Given the description of an element on the screen output the (x, y) to click on. 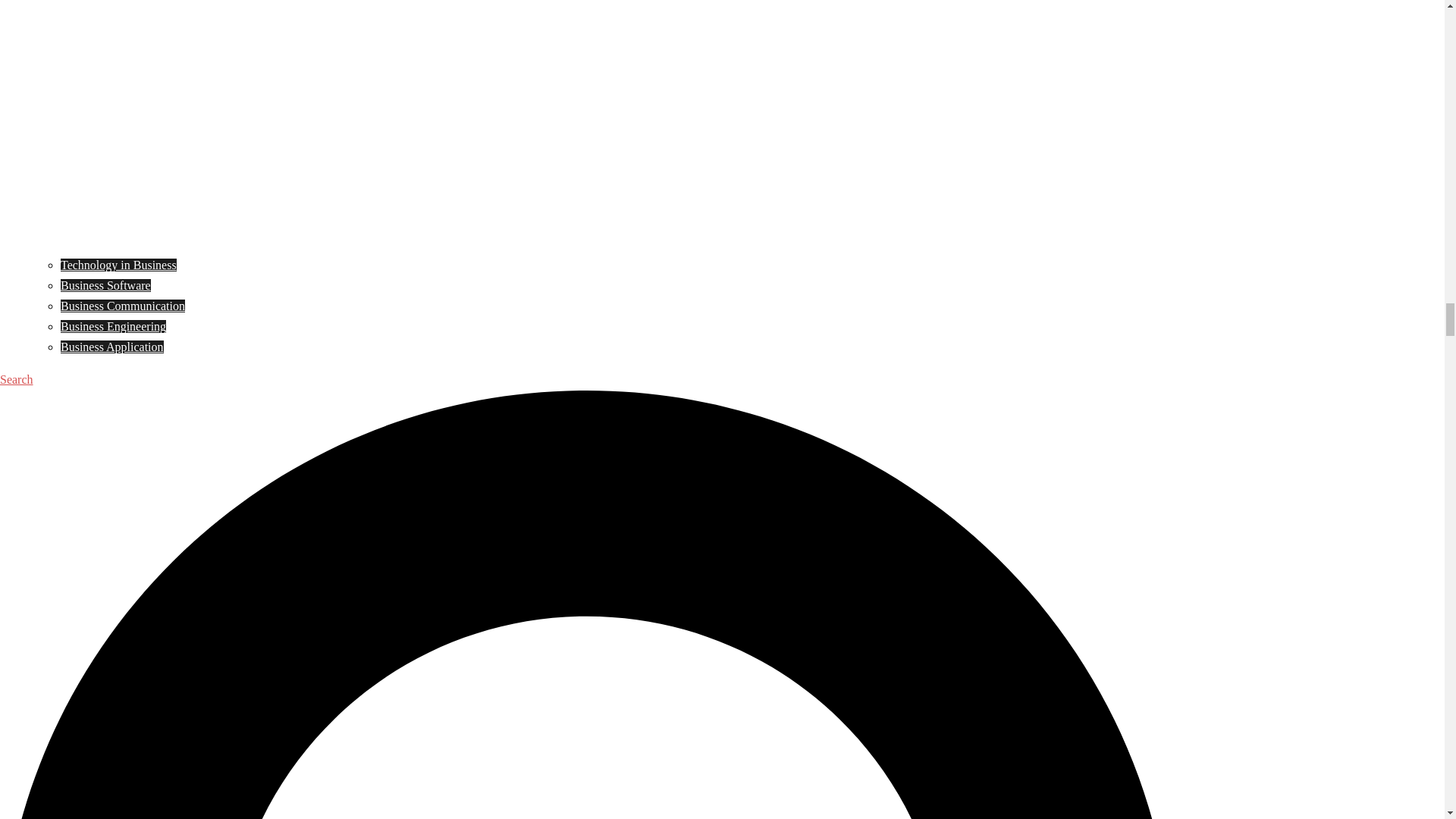
Business Engineering (113, 326)
Business Communication (122, 305)
Business Software (106, 285)
Technology in Business (118, 264)
Business Application (112, 346)
